Given the description of an element on the screen output the (x, y) to click on. 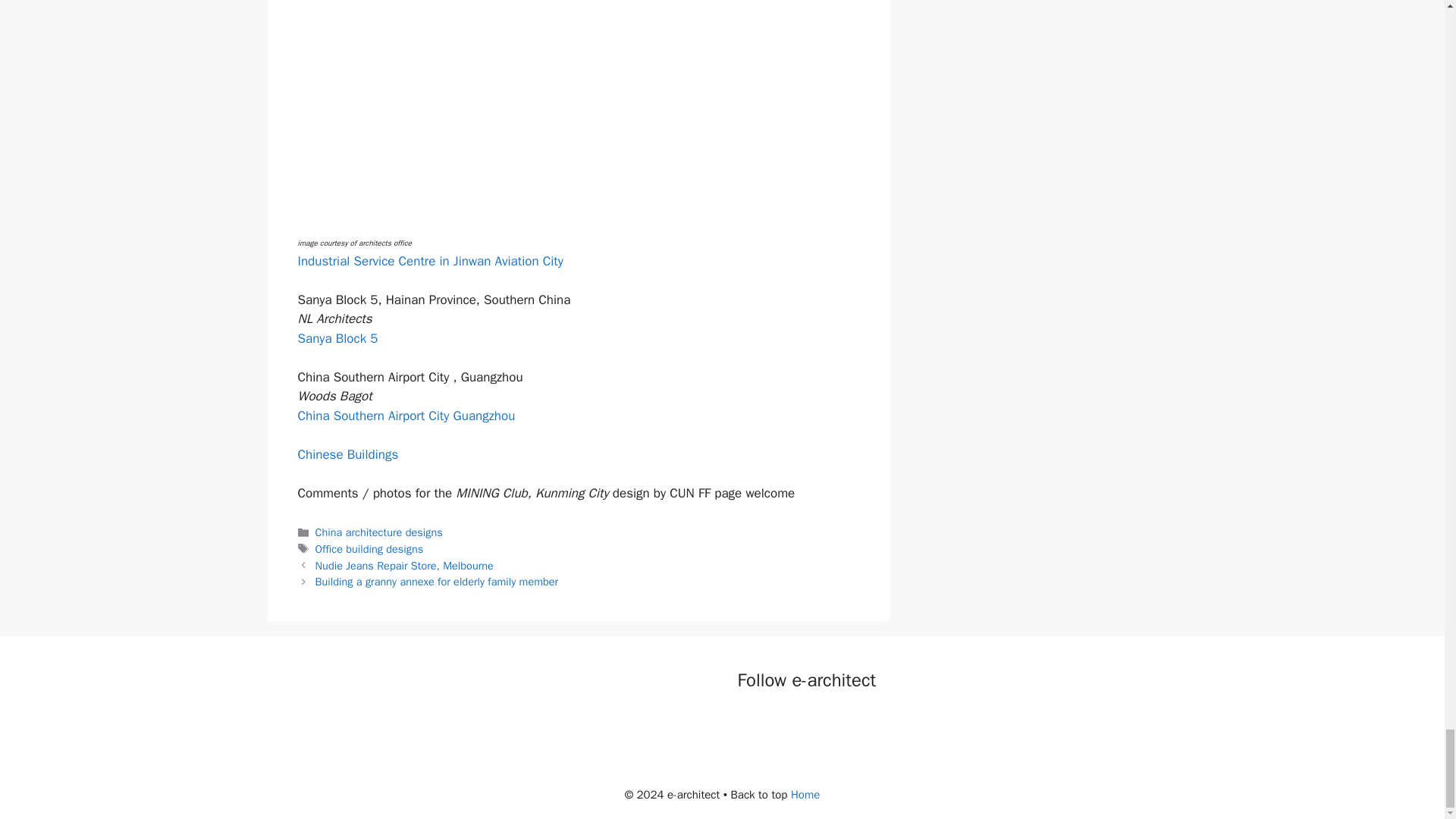
twitter (781, 722)
facebook (749, 722)
linkedin (811, 722)
instagram (842, 722)
